Given the description of an element on the screen output the (x, y) to click on. 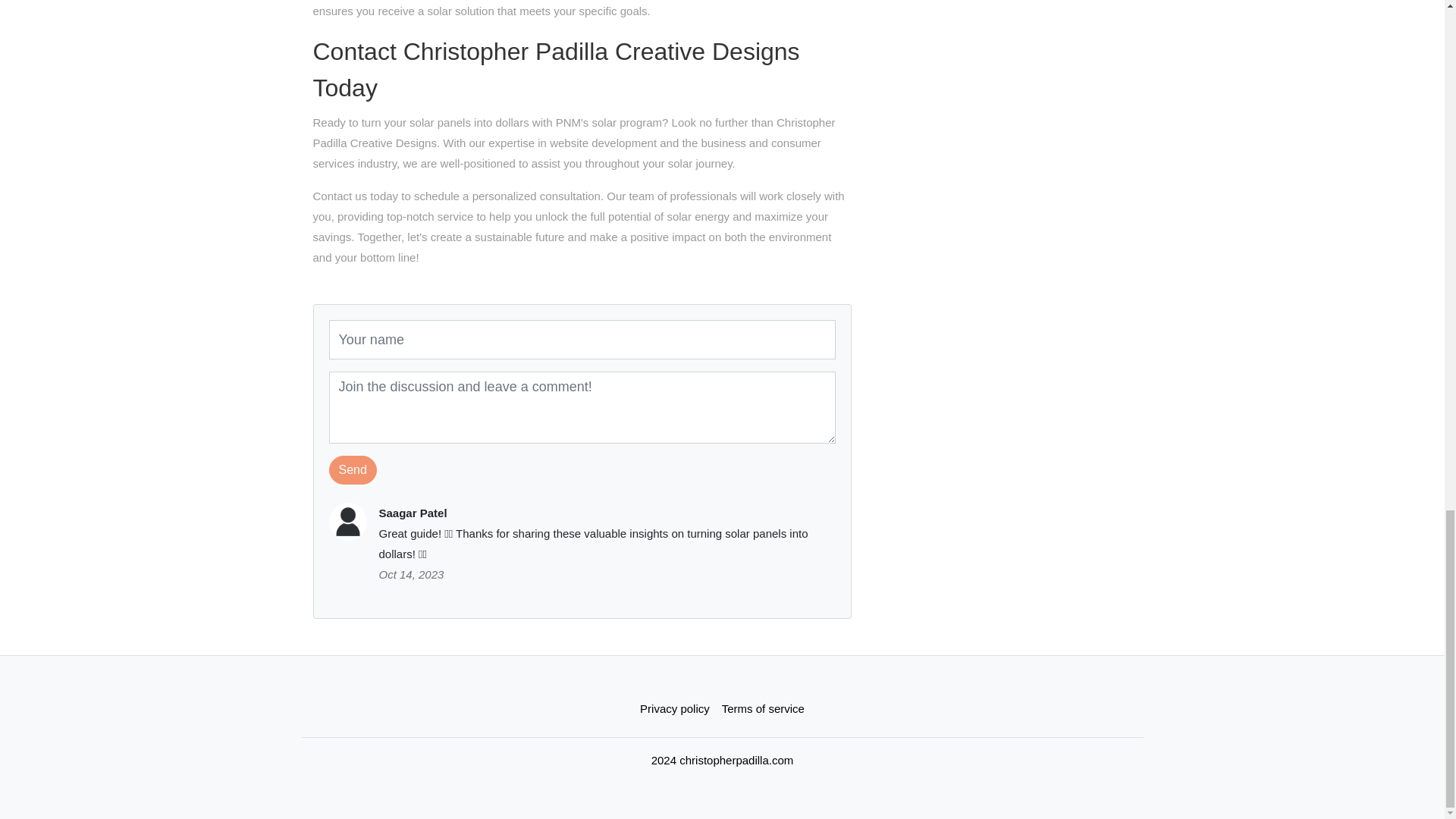
Send (353, 469)
Privacy policy (674, 708)
Terms of service (763, 708)
Send (353, 469)
